Given the description of an element on the screen output the (x, y) to click on. 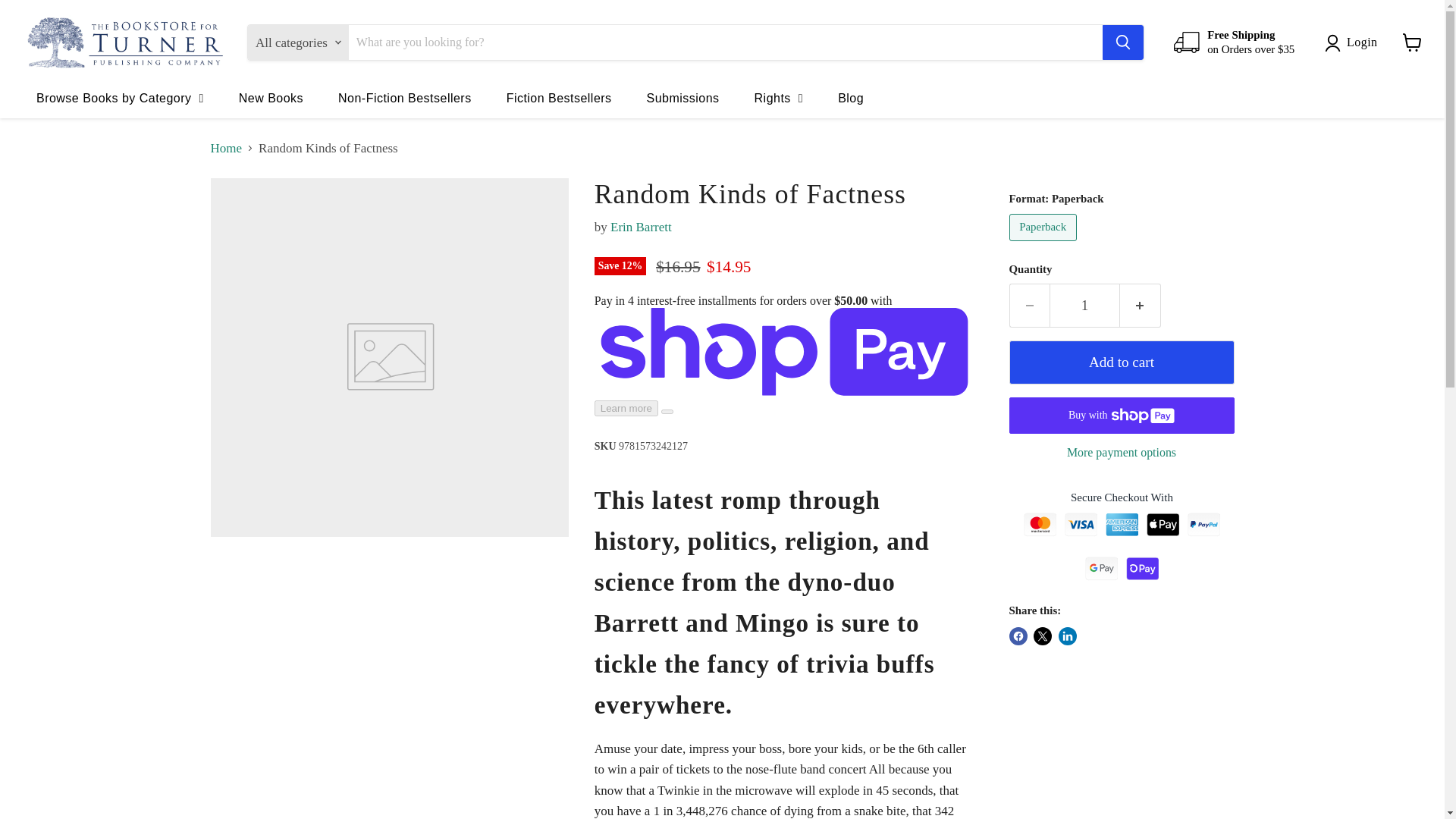
Browse Books by Category (119, 97)
View cart (1411, 41)
Browse Books by Category (119, 97)
Login (1354, 42)
1 (1084, 305)
